Given the description of an element on the screen output the (x, y) to click on. 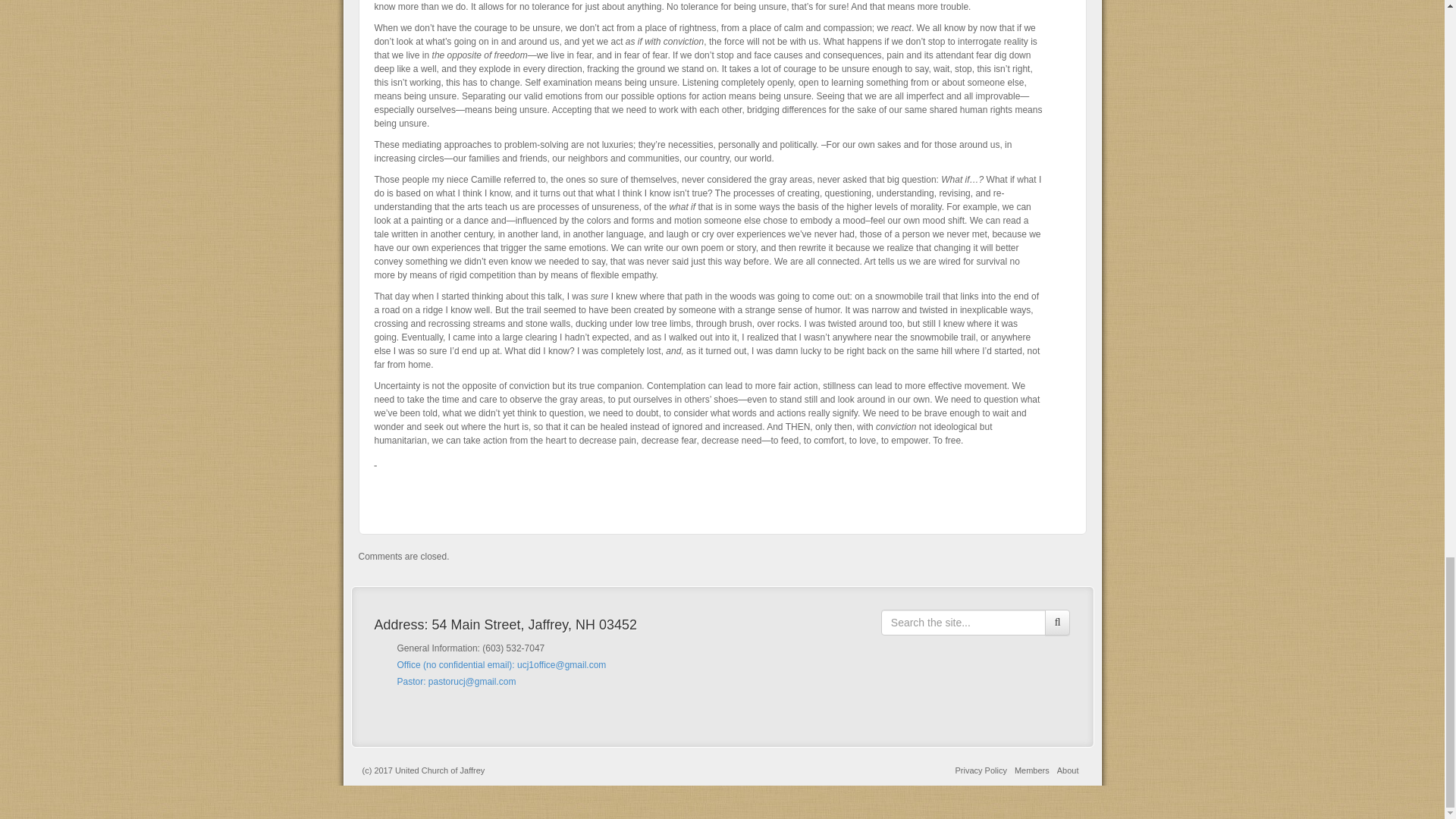
Members (1031, 769)
Privacy Policy (980, 769)
About (1067, 769)
